Given the description of an element on the screen output the (x, y) to click on. 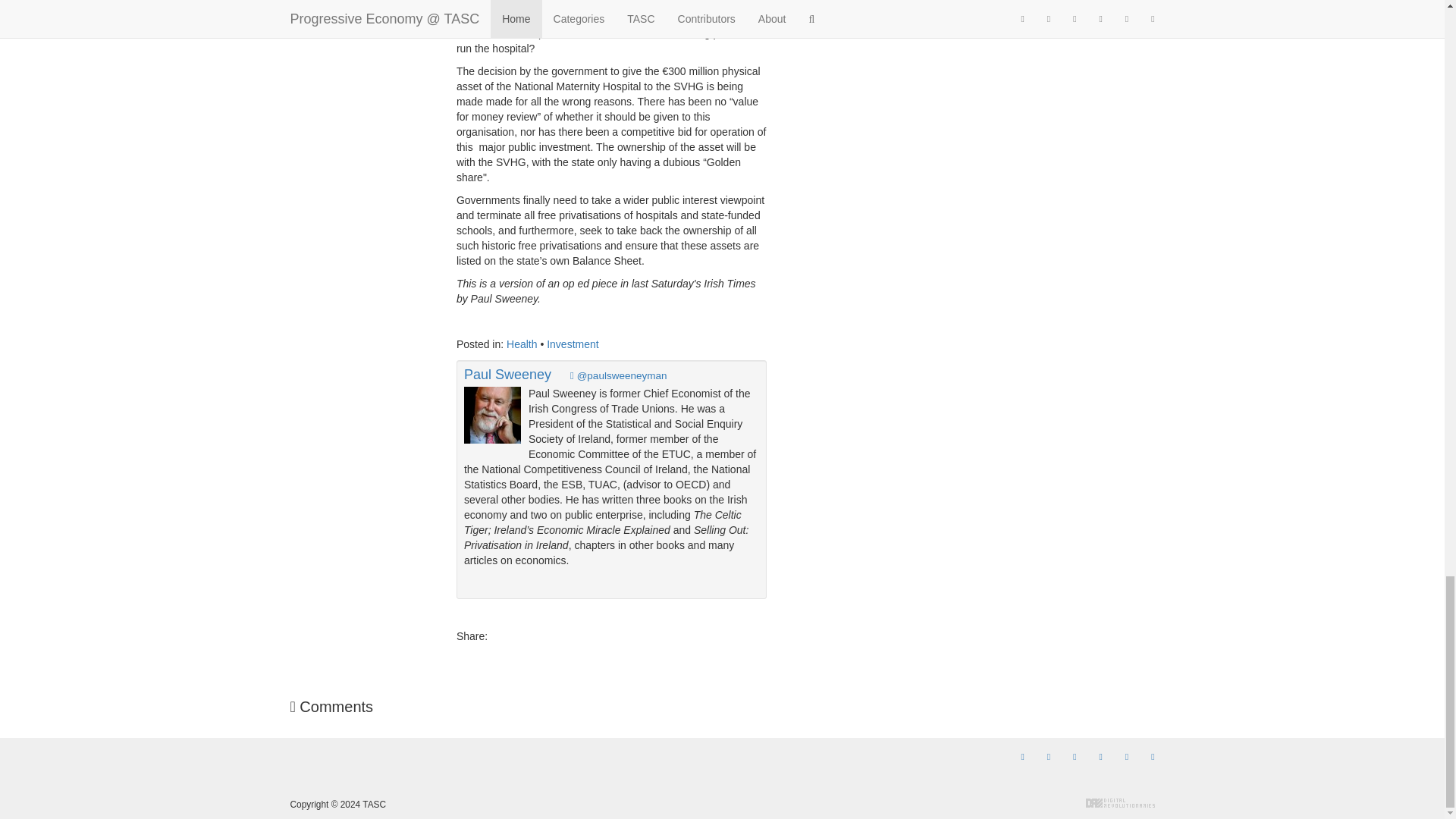
Site developed by the Digital Revolutionaries (1120, 802)
Health (521, 344)
Investment (572, 344)
Paul Sweeney (507, 374)
